Given the description of an element on the screen output the (x, y) to click on. 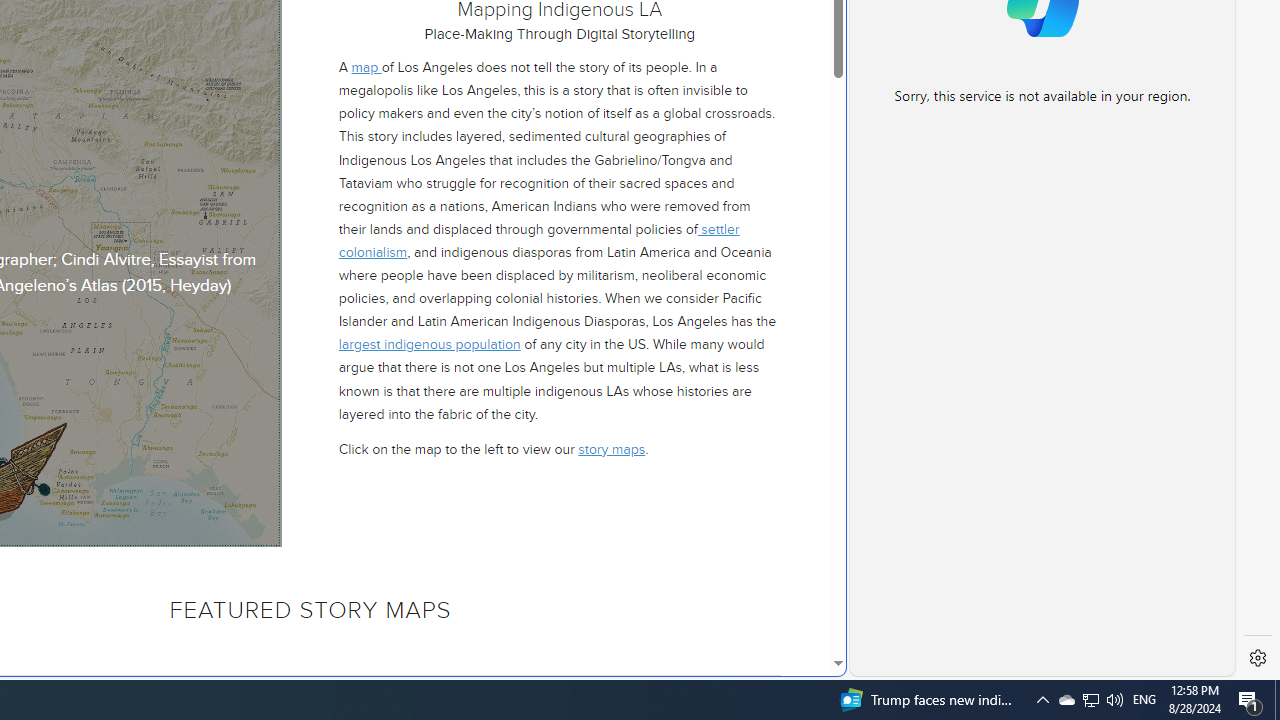
 settler colonialism (538, 240)
Settings (1258, 658)
map  (365, 67)
story maps (612, 448)
largest indigenous population (428, 344)
